Given the description of an element on the screen output the (x, y) to click on. 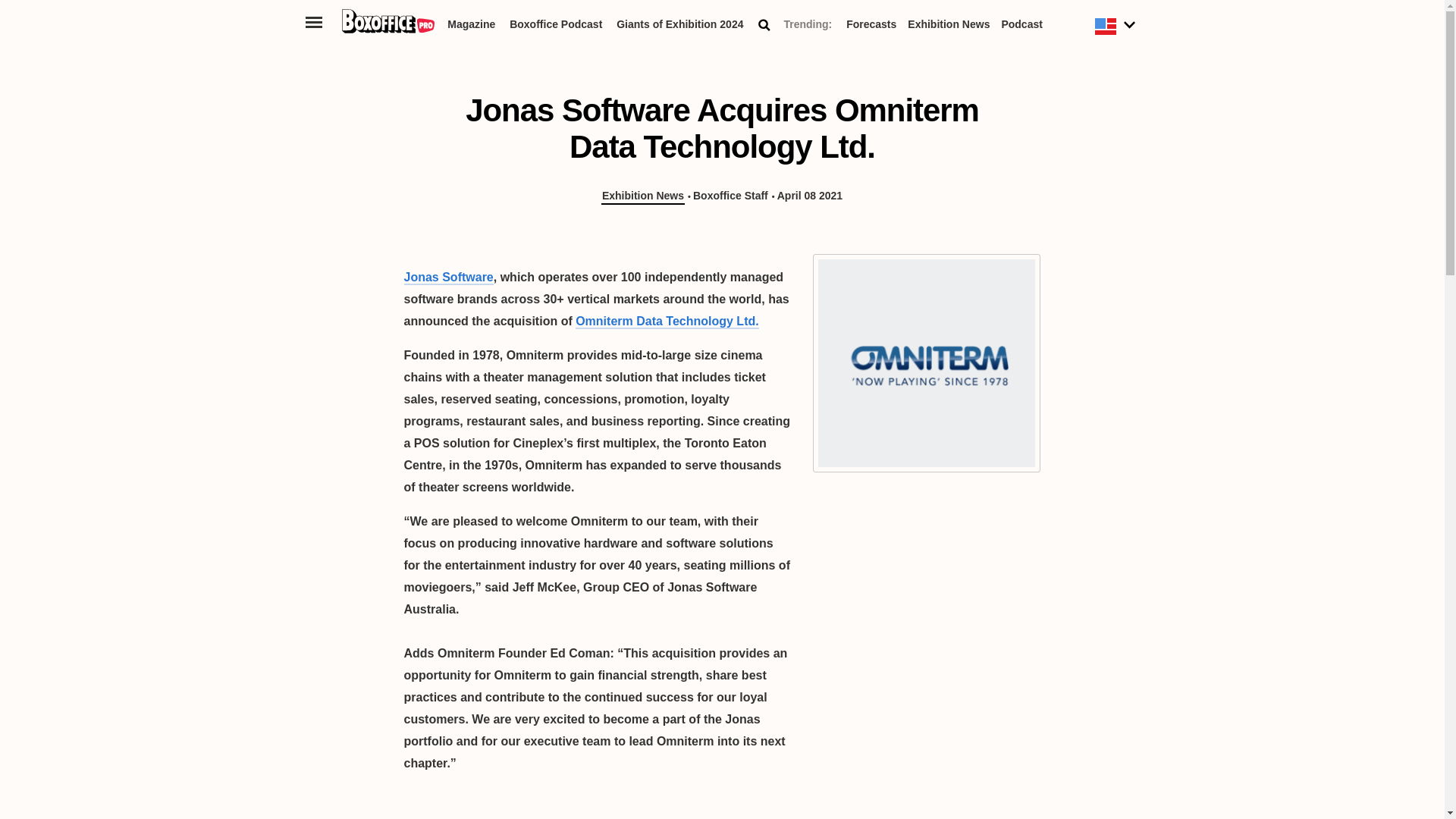
Exhibition News (642, 195)
Magazine (470, 27)
Forecasts (870, 27)
Omniterm Data Technology Ltd. (666, 321)
Giants of Exhibition 2024 (678, 27)
Menu (314, 22)
Boxoffice Podcast (555, 27)
Exhibition News (948, 27)
Podcast (1021, 27)
Jonas Software (448, 278)
